Given the description of an element on the screen output the (x, y) to click on. 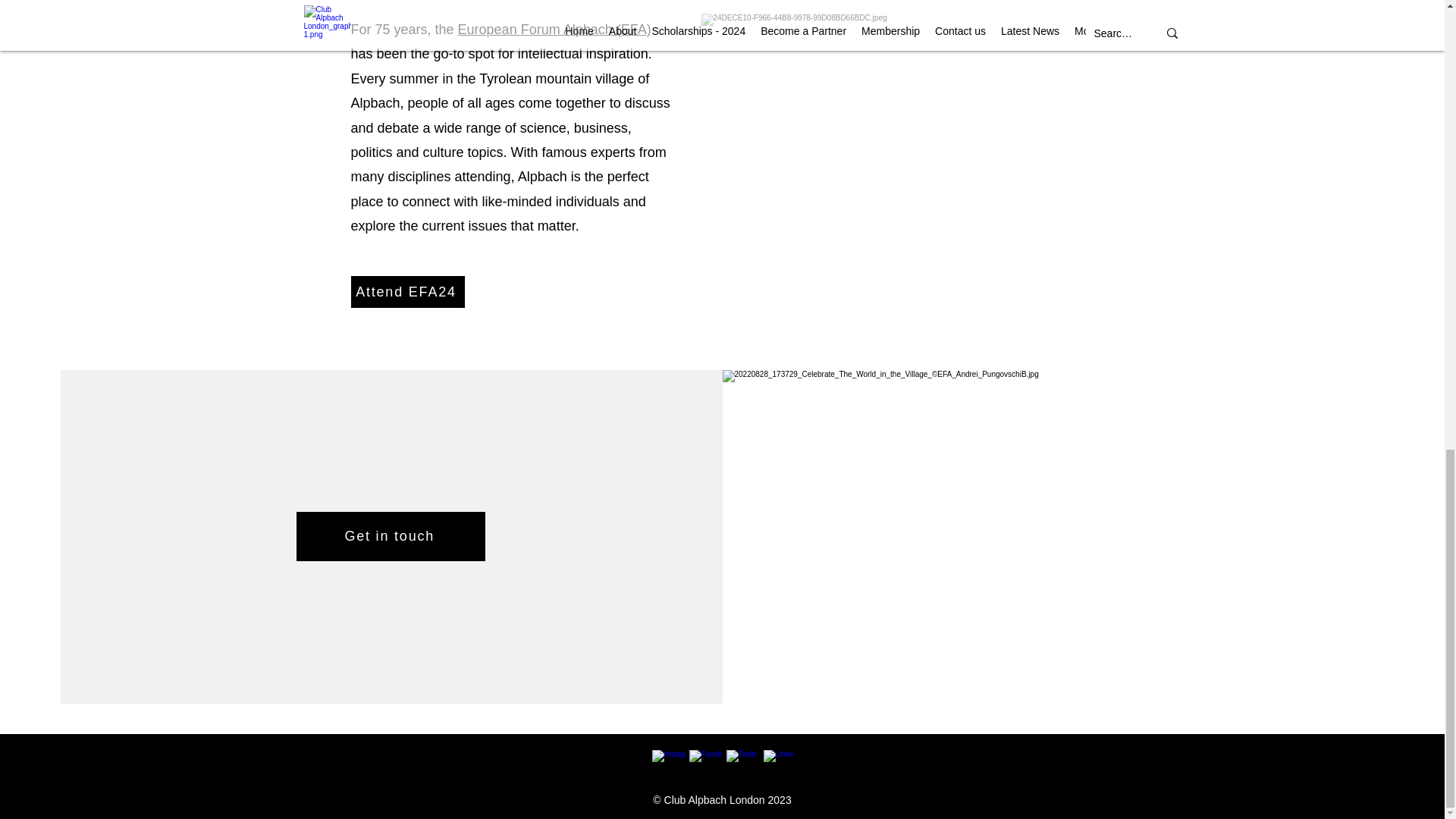
Attend EFA24 (407, 291)
Countryside Road (872, 128)
Get in touch (390, 536)
